Given the description of an element on the screen output the (x, y) to click on. 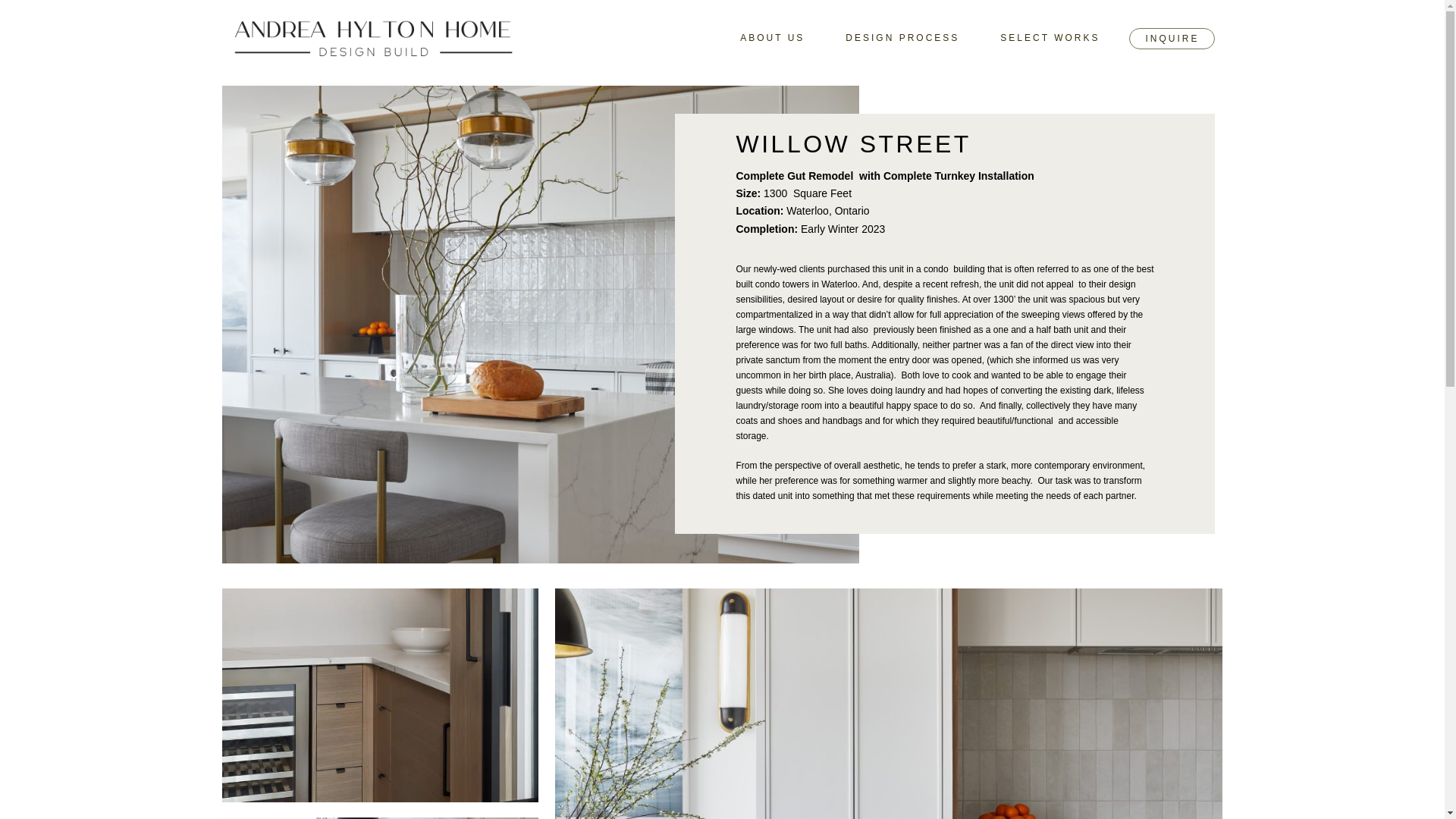
ABOUT US (772, 37)
Willow Street (379, 695)
SELECT WORKS (1049, 37)
INQUIRE (1171, 38)
DESIGN PROCESS (902, 37)
